Given the description of an element on the screen output the (x, y) to click on. 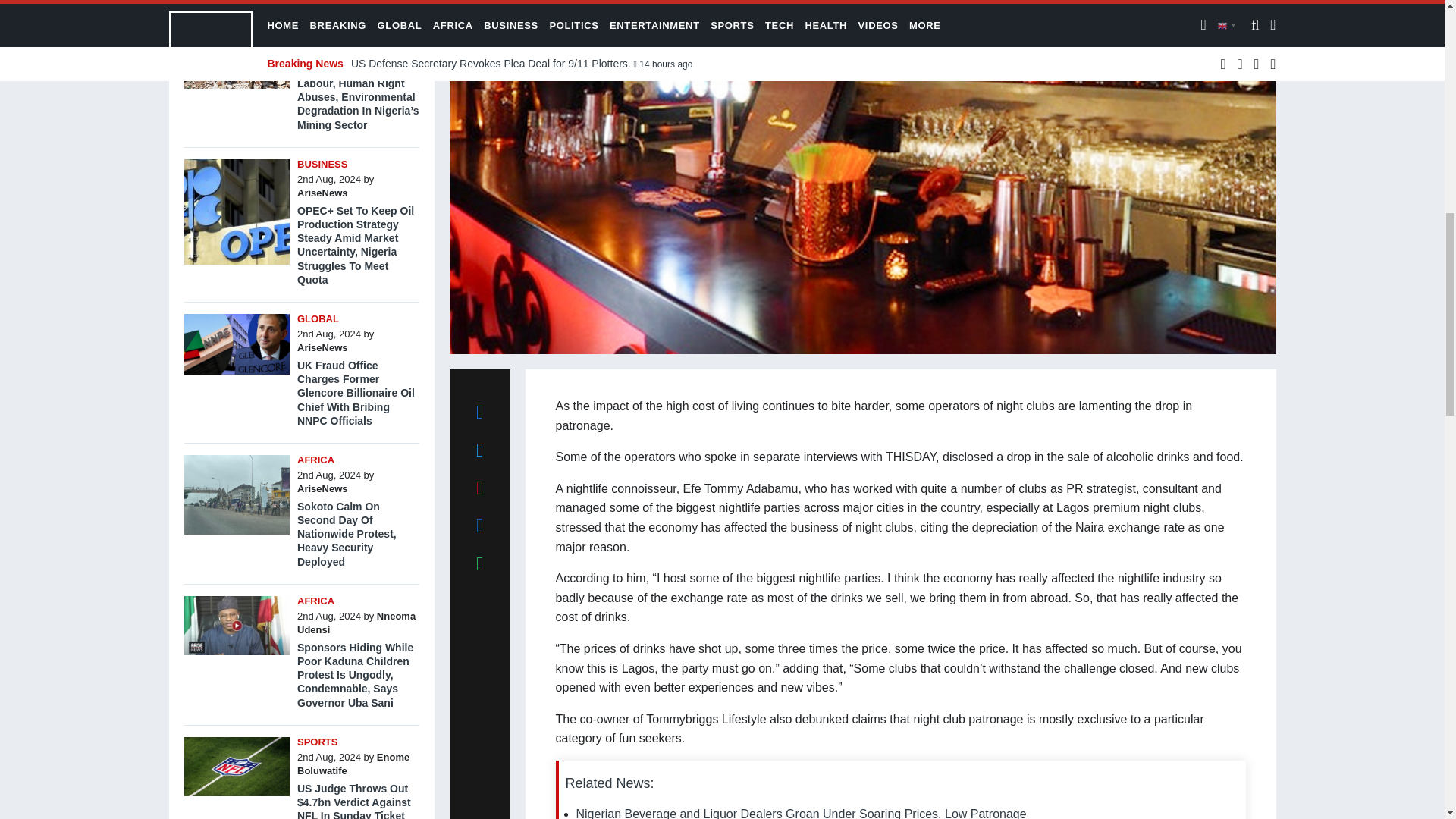
AriseNews (322, 488)
GLOBAL (318, 318)
BUSINESS (322, 163)
Posts by AriseNews (322, 347)
Posts by AriseNews (322, 193)
AFRICA (315, 22)
AFRICA (315, 460)
Posts by AriseNews (322, 51)
AriseNews (322, 51)
AriseNews (322, 193)
